Given the description of an element on the screen output the (x, y) to click on. 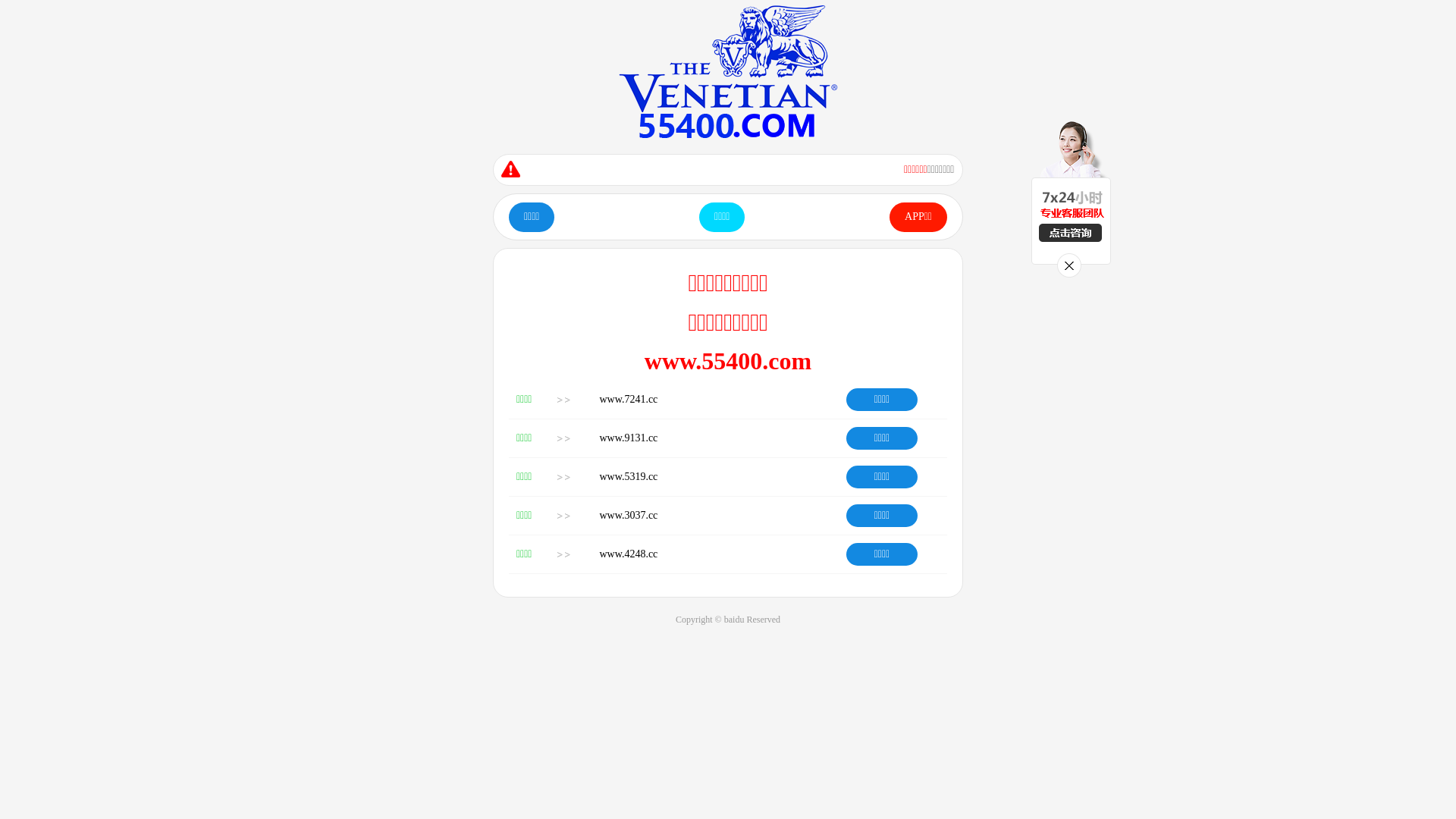
www.5319.cc Element type: text (628, 476)
www.7241.cc Element type: text (628, 398)
www.3037.cc Element type: text (628, 514)
www.4248.cc Element type: text (628, 553)
www.9131.cc Element type: text (628, 437)
